Given the description of an element on the screen output the (x, y) to click on. 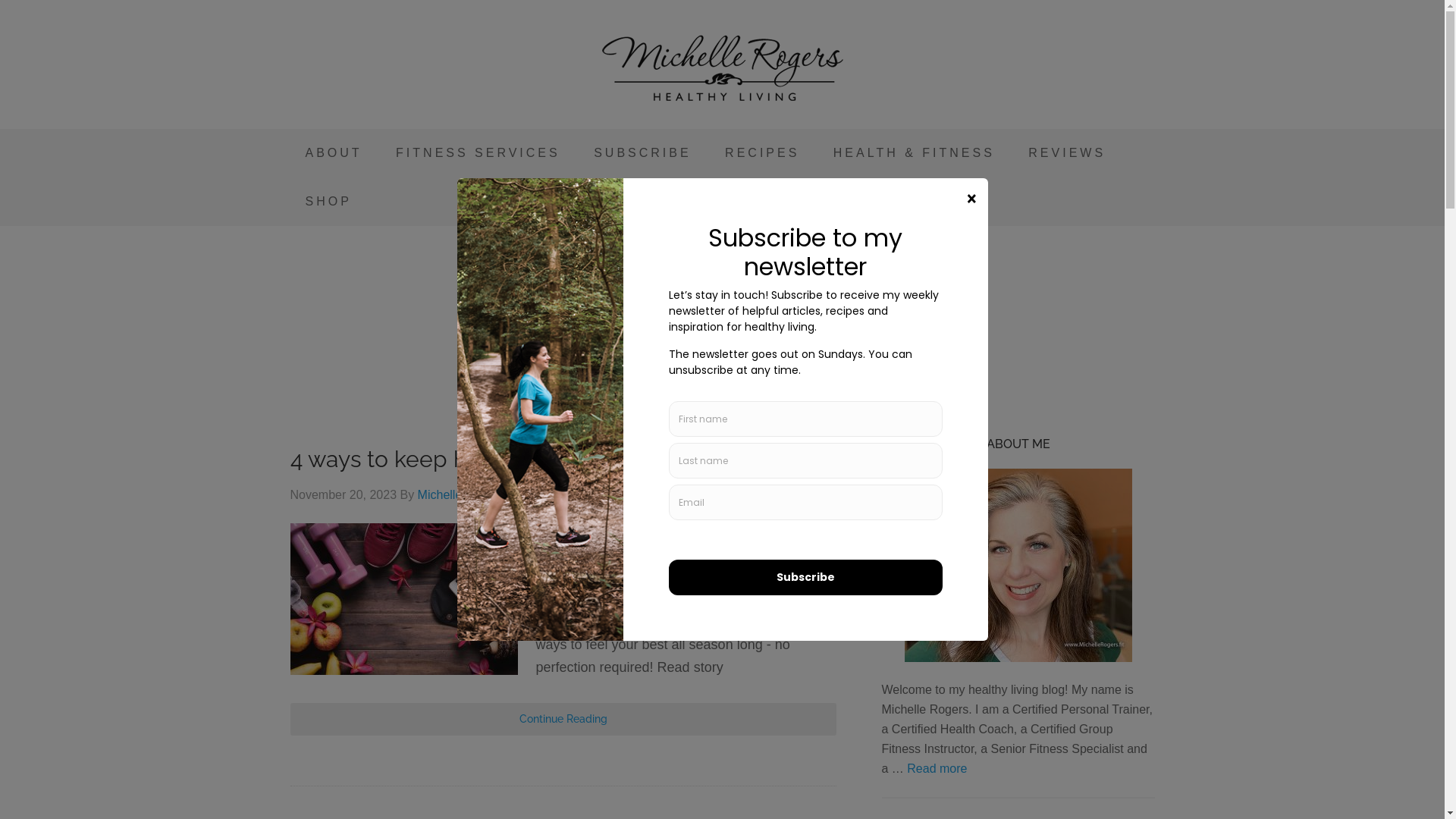
HEALTH & FITNESS Element type: text (914, 152)
Read more Element type: text (936, 768)
4 ways to keep healthy goals during the holidays Element type: text (544, 458)
Continue Reading Element type: text (562, 718)
Michelle Rogers, CPT, CHC, CGFI Element type: text (510, 494)
FITNESS SERVICES Element type: text (477, 152)
SUBSCRIBE Element type: text (642, 152)
RECIPES Element type: text (761, 152)
ABOUT Element type: text (332, 152)
REVIEWS Element type: text (1066, 152)
SHOP Element type: text (327, 201)
Michelle Rogers Healthy Living Blog Element type: text (721, 67)
